Given the description of an element on the screen output the (x, y) to click on. 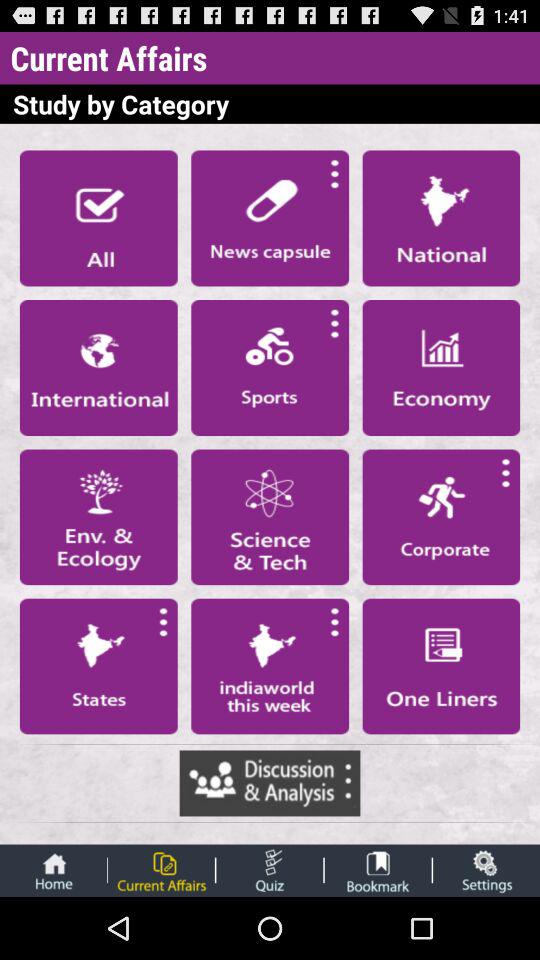
study international (98, 367)
